Given the description of an element on the screen output the (x, y) to click on. 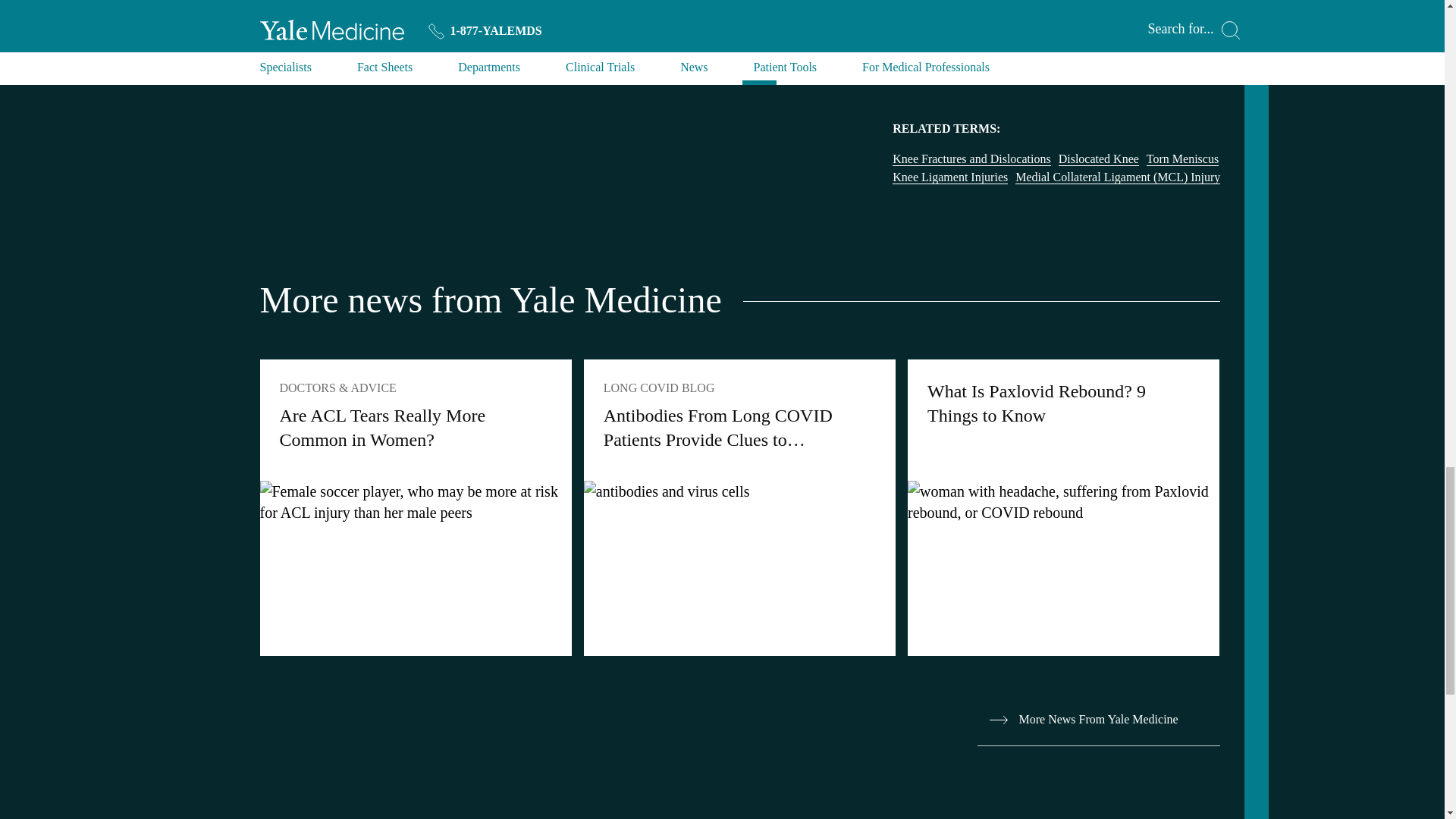
Knee Fractures and Dislocations (970, 159)
anitbodies from long covid (739, 491)
Dislocated Knee (1098, 159)
Knee Ligament Injuries (949, 177)
woman with headache, suffering from Paxlovid rebound (1063, 501)
Torn Meniscus (1182, 159)
What Is Paxlovid Rebound? 9 Things to Know (1063, 507)
More News From Yale Medicine (1098, 719)
